Given the description of an element on the screen output the (x, y) to click on. 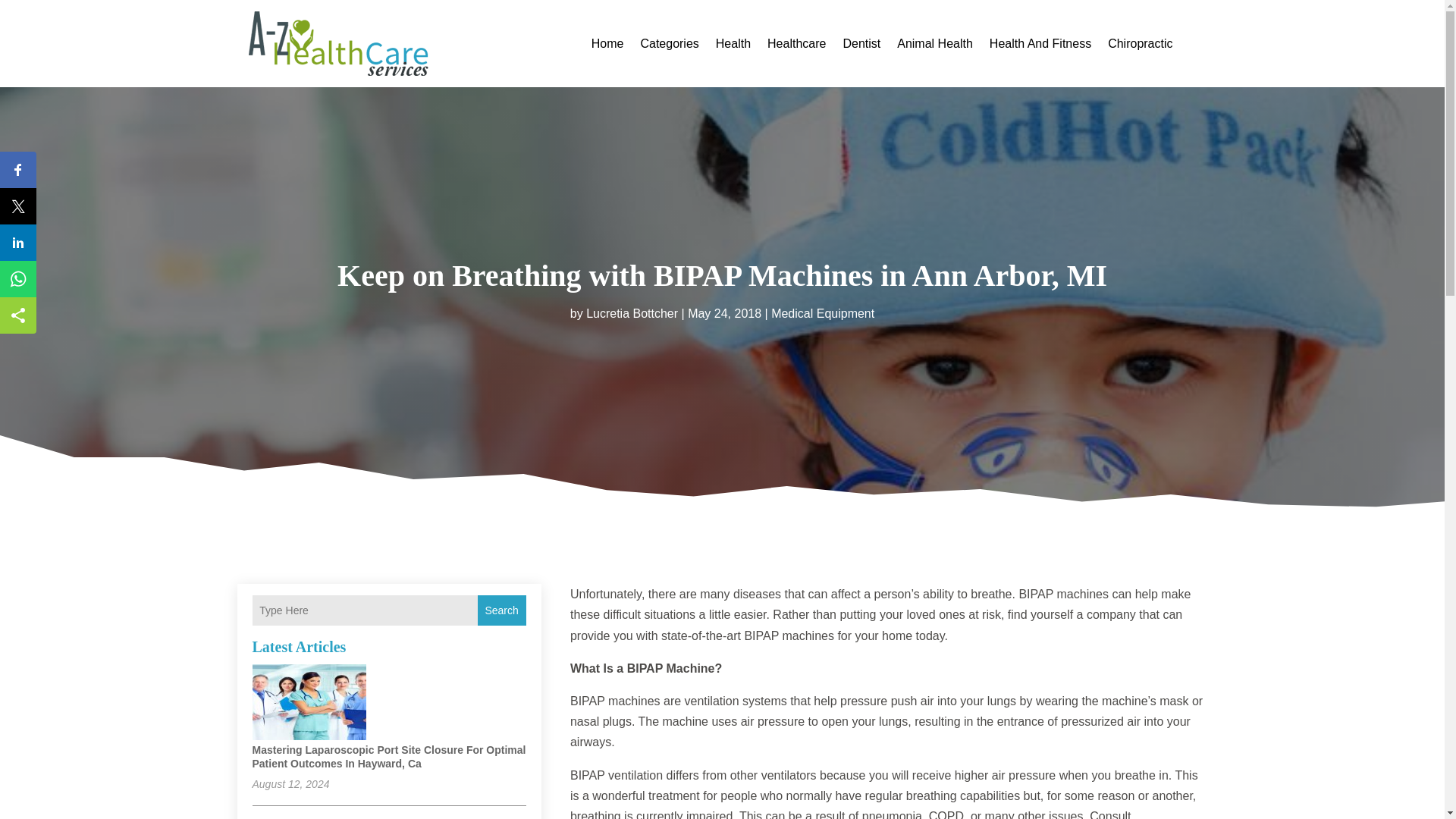
Chiropractic (1140, 43)
Search (501, 610)
Medical Equipment (823, 312)
Lucretia Bottcher (632, 312)
Posts by Lucretia Bottcher (632, 312)
Healthcare (796, 43)
Animal Health (934, 43)
Health And Fitness (1040, 43)
Categories (669, 43)
